Given the description of an element on the screen output the (x, y) to click on. 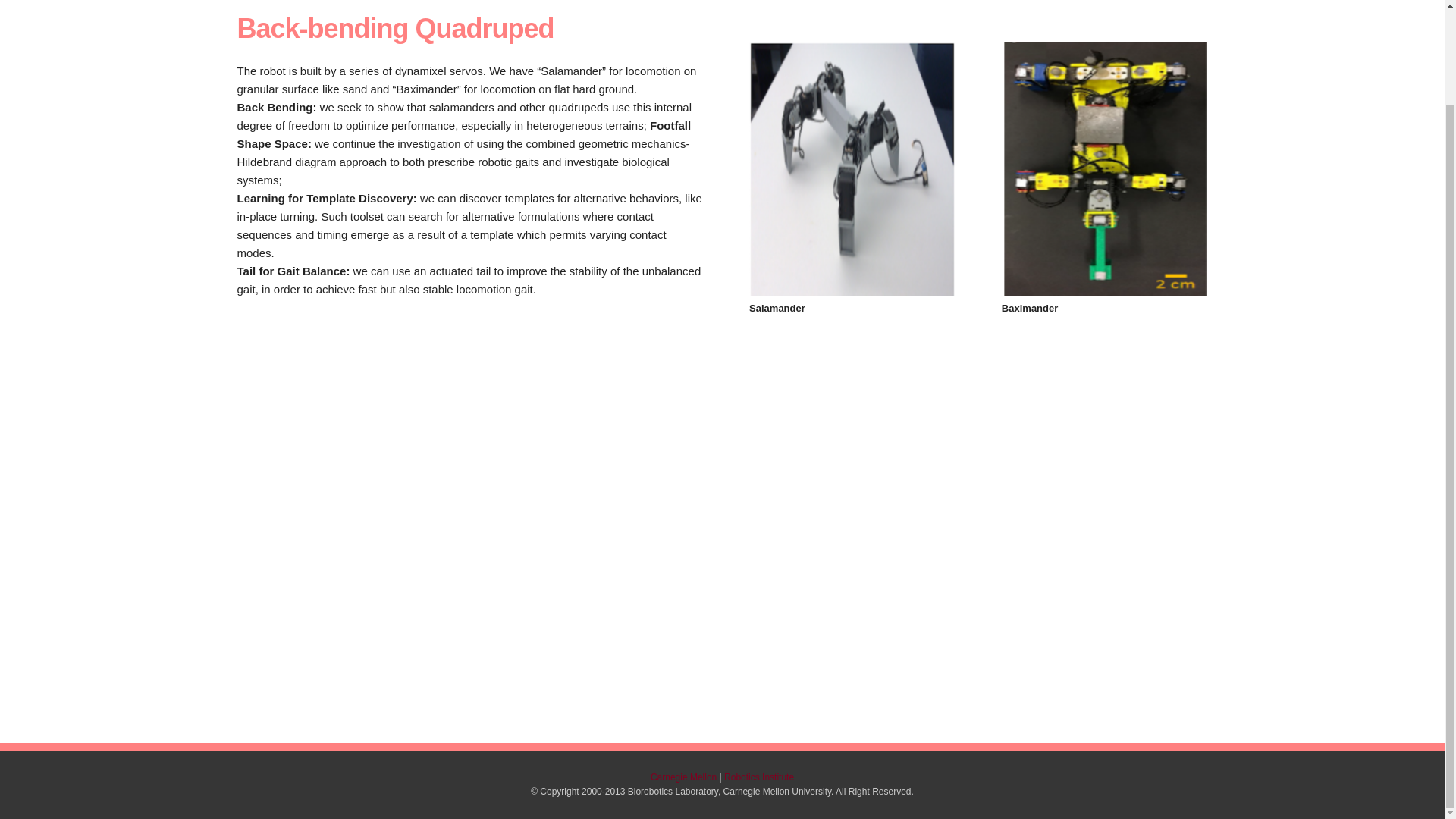
Robotics Institute (758, 777)
Carnegie Mellon (683, 777)
